Given the description of an element on the screen output the (x, y) to click on. 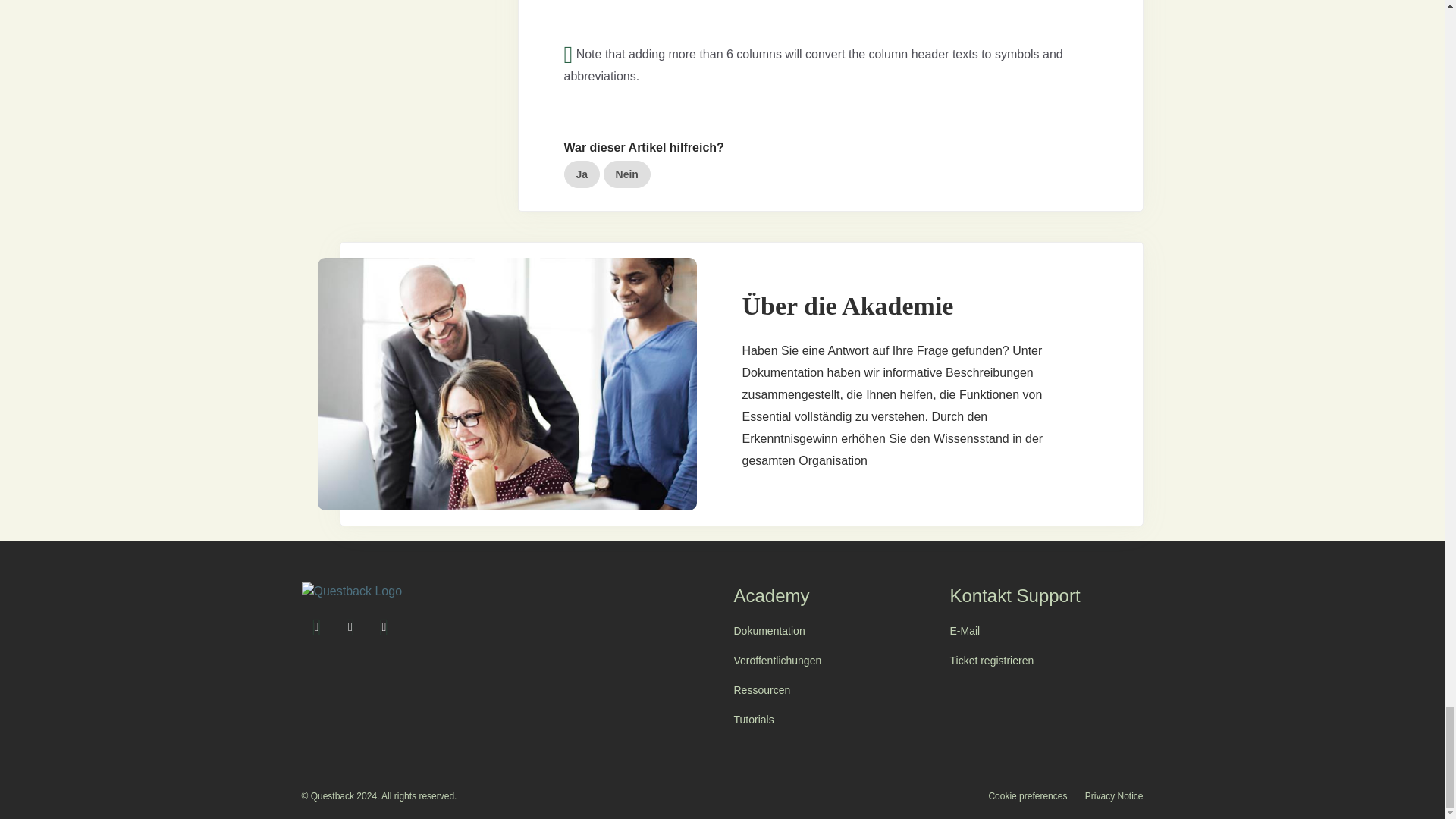
Ja (581, 174)
Nein (627, 174)
